Given the description of an element on the screen output the (x, y) to click on. 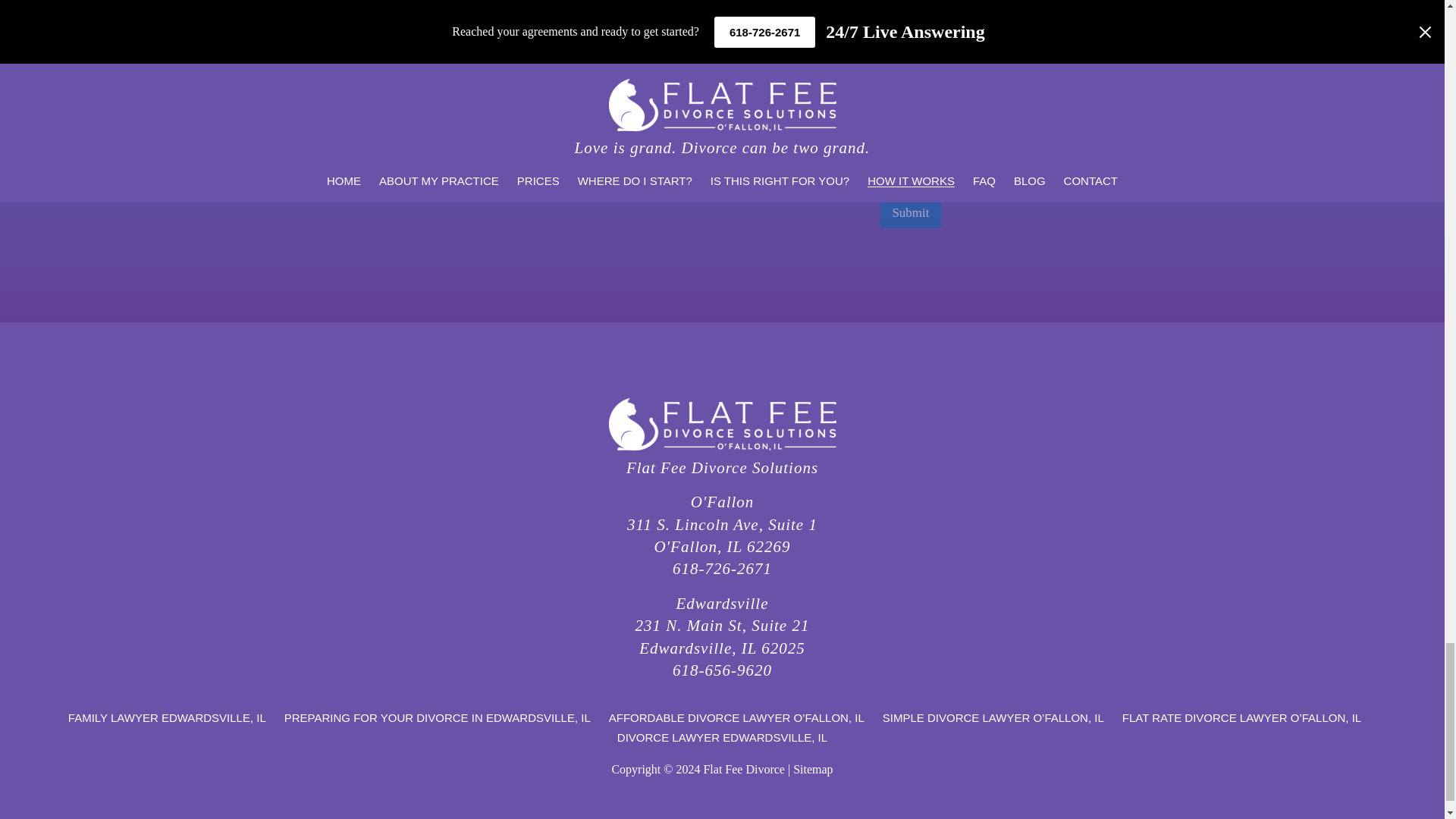
Submit (910, 212)
Flat Fee Divorce Solutions (722, 467)
618-726-2671 (721, 568)
